Given the description of an element on the screen output the (x, y) to click on. 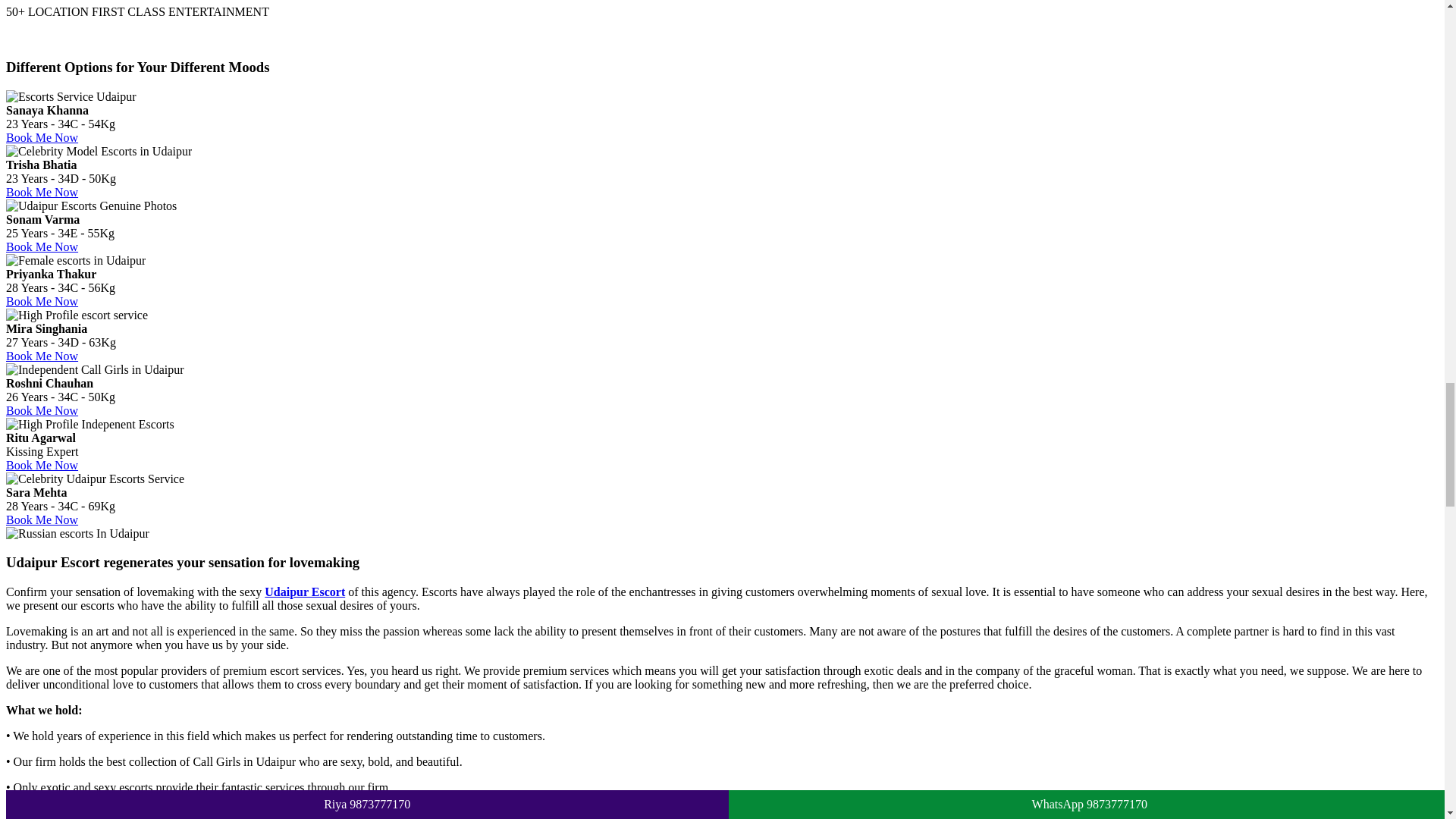
Book Me Now (41, 192)
Udaipur Escort (304, 591)
Book Me Now (41, 355)
Book Me Now (41, 137)
Book Me Now (41, 246)
Book Me Now (41, 519)
Book Me Now (41, 410)
Escorts Service Udaipur (70, 97)
Book Me Now (41, 300)
Book Me Now (41, 464)
